Given the description of an element on the screen output the (x, y) to click on. 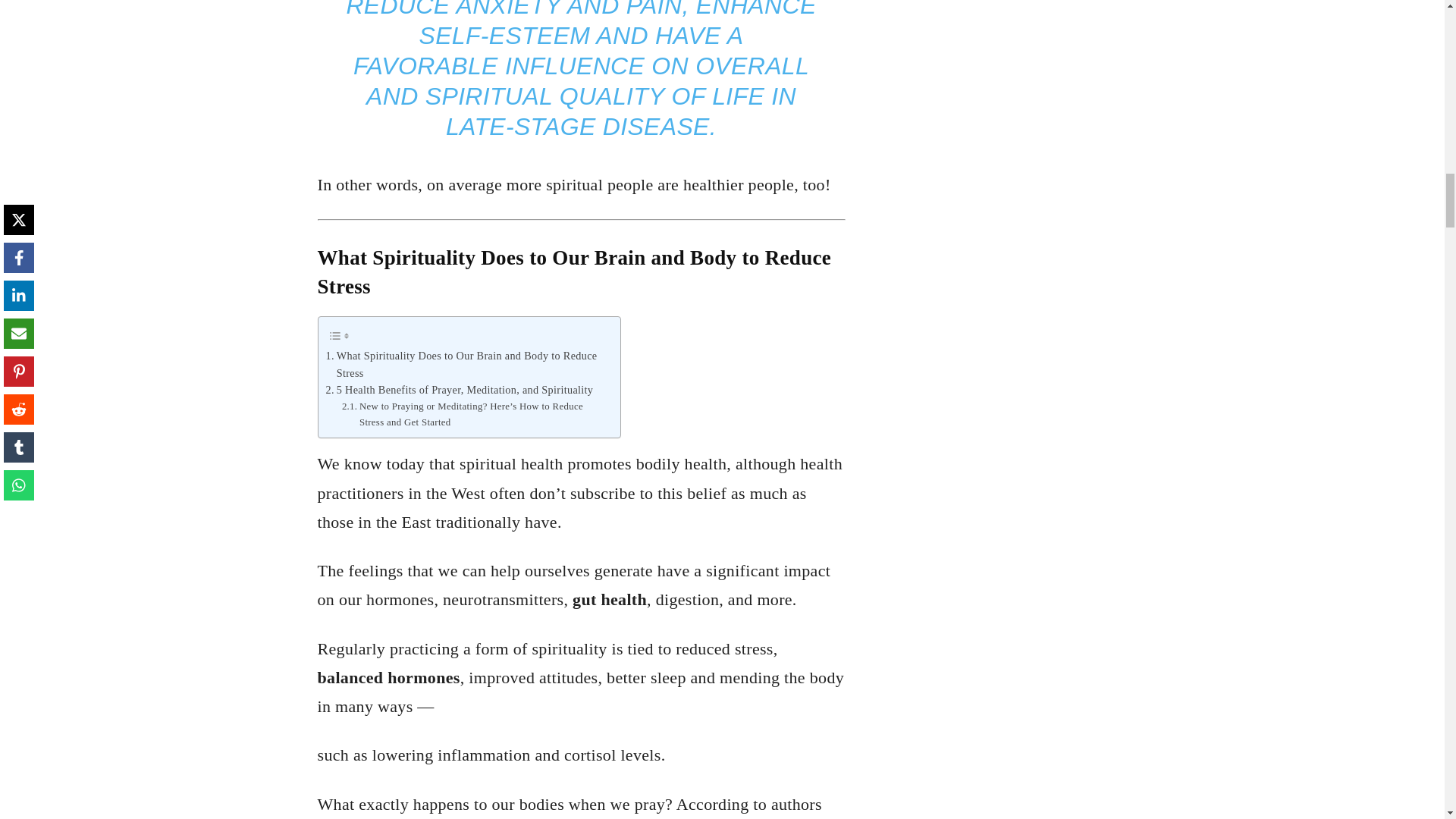
5 Health Benefits of Prayer, Meditation, and Spirituality (460, 389)
5 Health Benefits of Prayer, Meditation, and Spirituality (460, 389)
